Given the description of an element on the screen output the (x, y) to click on. 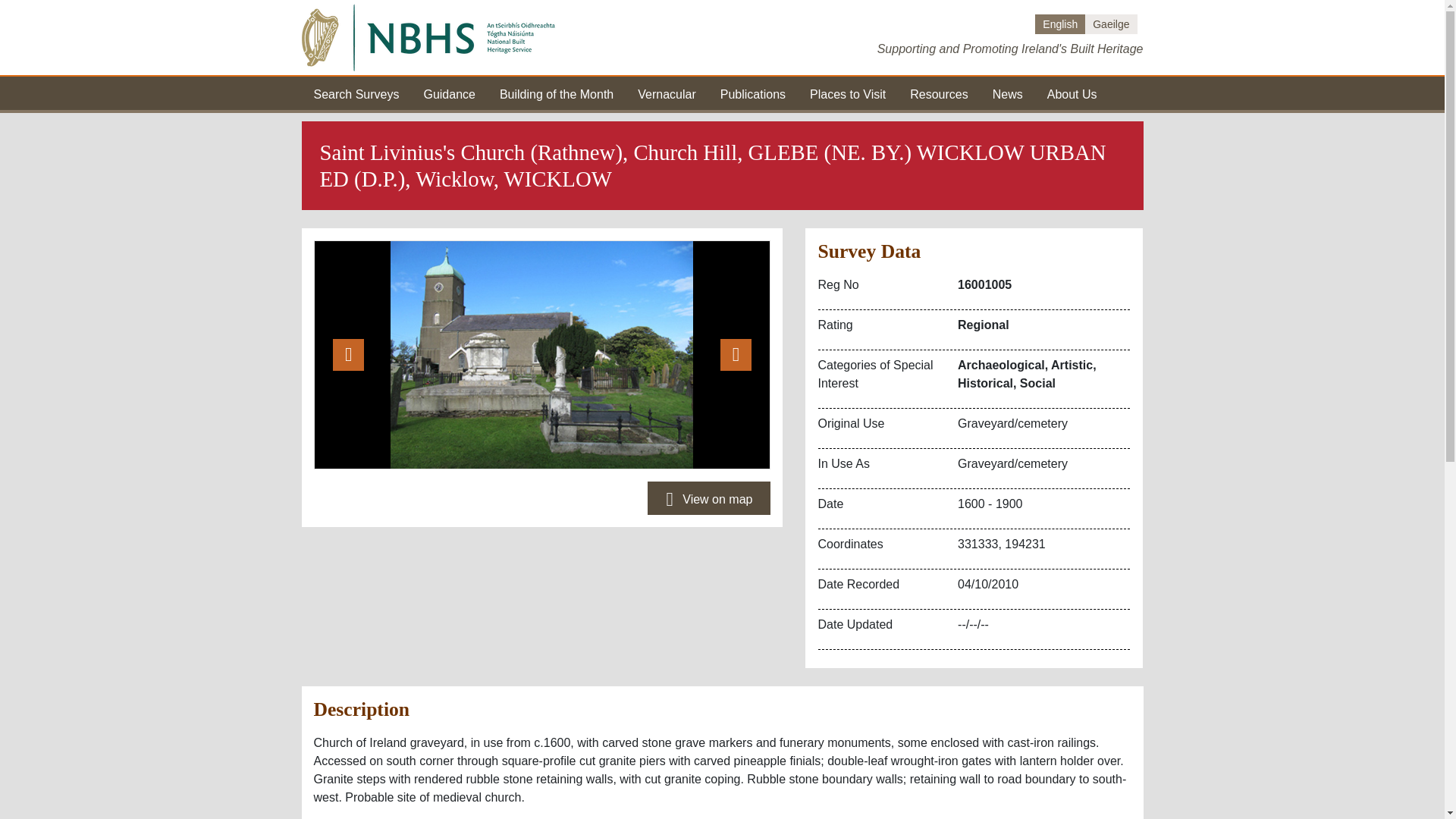
Next (735, 354)
Publications (753, 92)
View on map (708, 498)
Previous (347, 354)
Vernacular (666, 92)
Gaeilge (1110, 24)
News (1007, 92)
Resources (939, 92)
Building of the Month (555, 92)
English (1059, 24)
Search Surveys (356, 92)
About Us (1071, 92)
Guidance (449, 92)
Places to Visit (847, 92)
